Given the description of an element on the screen output the (x, y) to click on. 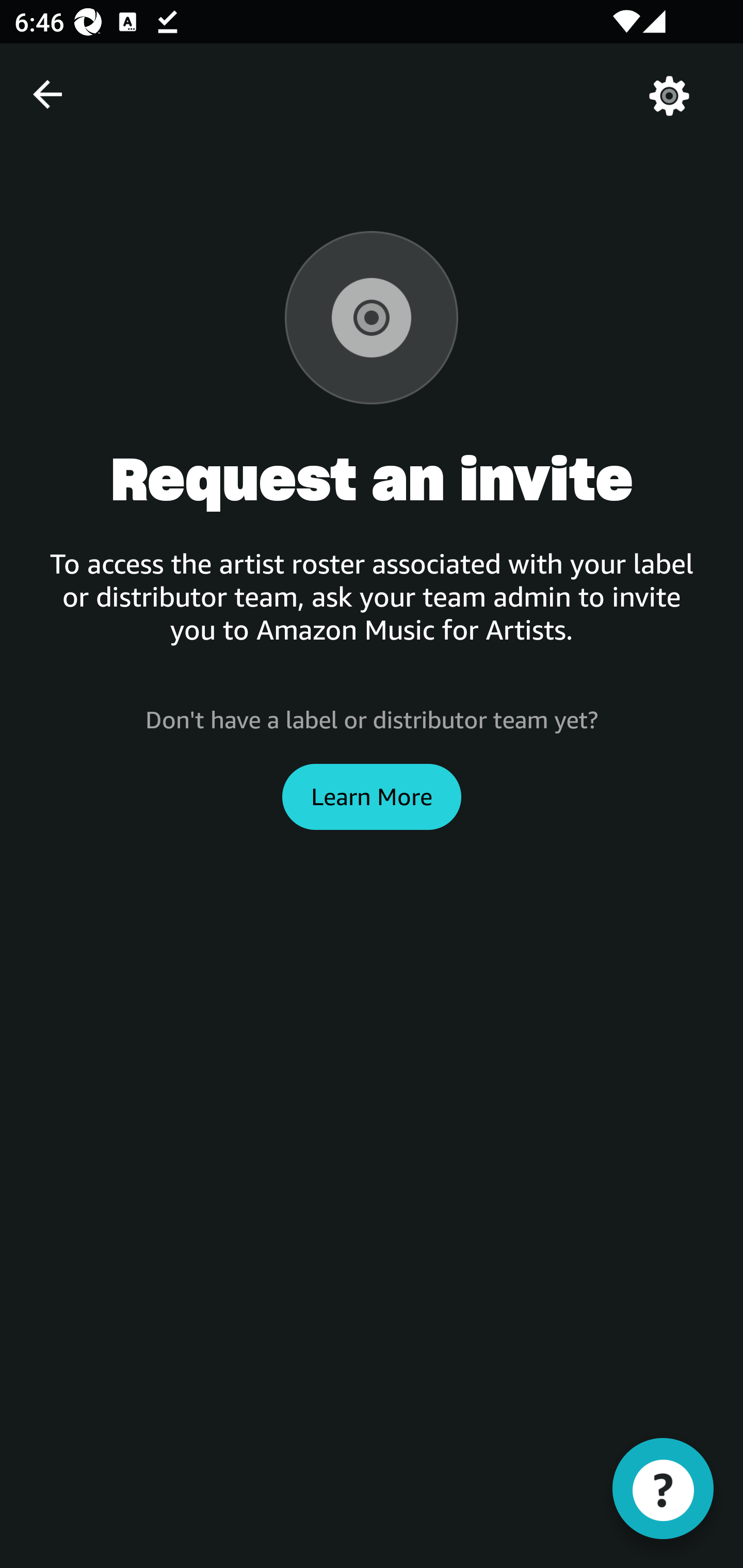
Learn more button Learn More (371, 796)
